Given the description of an element on the screen output the (x, y) to click on. 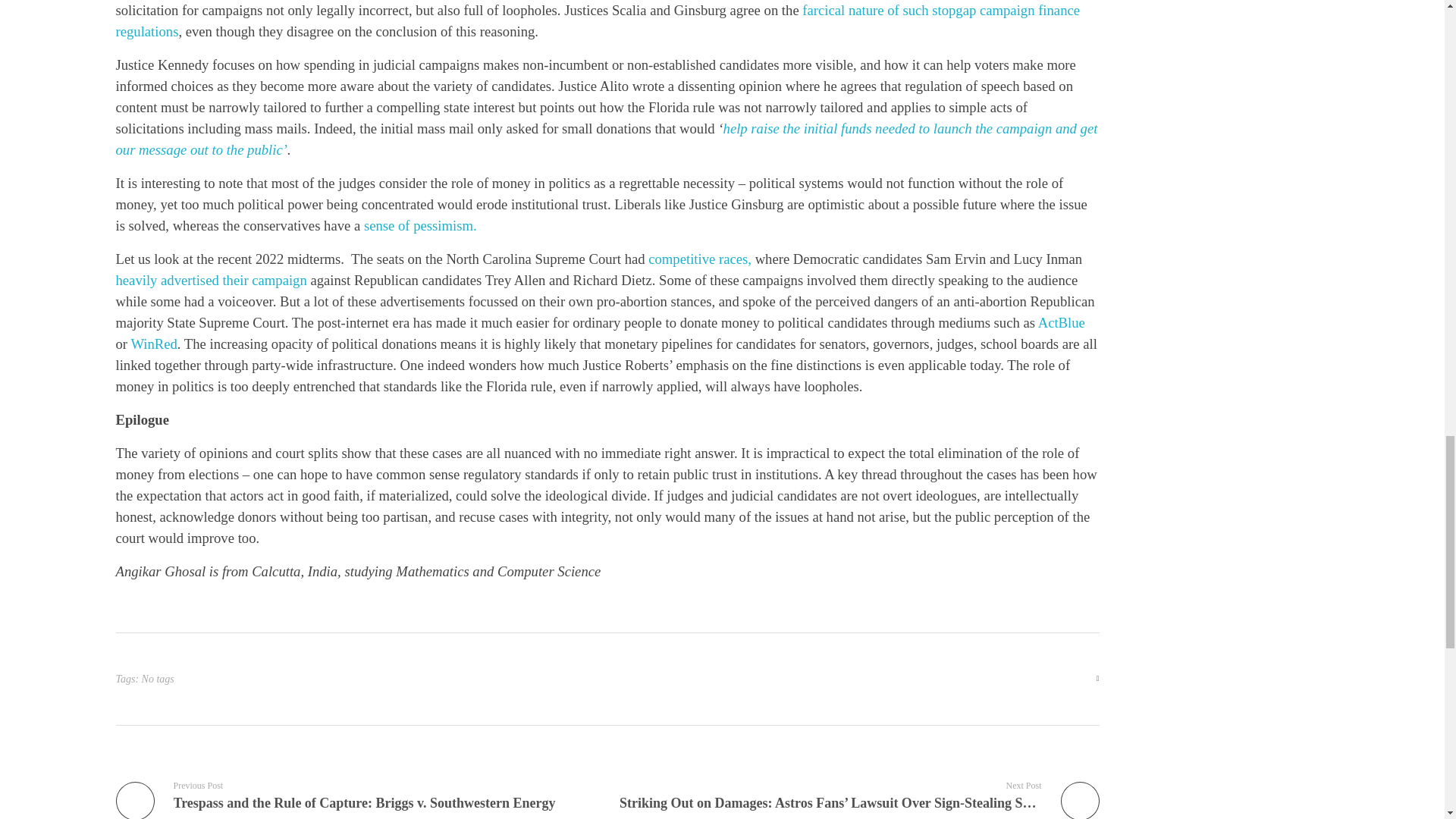
farcical nature of such stopgap campaign finance regulations (597, 20)
competitive races, (698, 258)
WinRed (152, 343)
heavily advertised their campaign (210, 279)
ActBlue (1059, 322)
sense of pessimism. (417, 225)
